Given the description of an element on the screen output the (x, y) to click on. 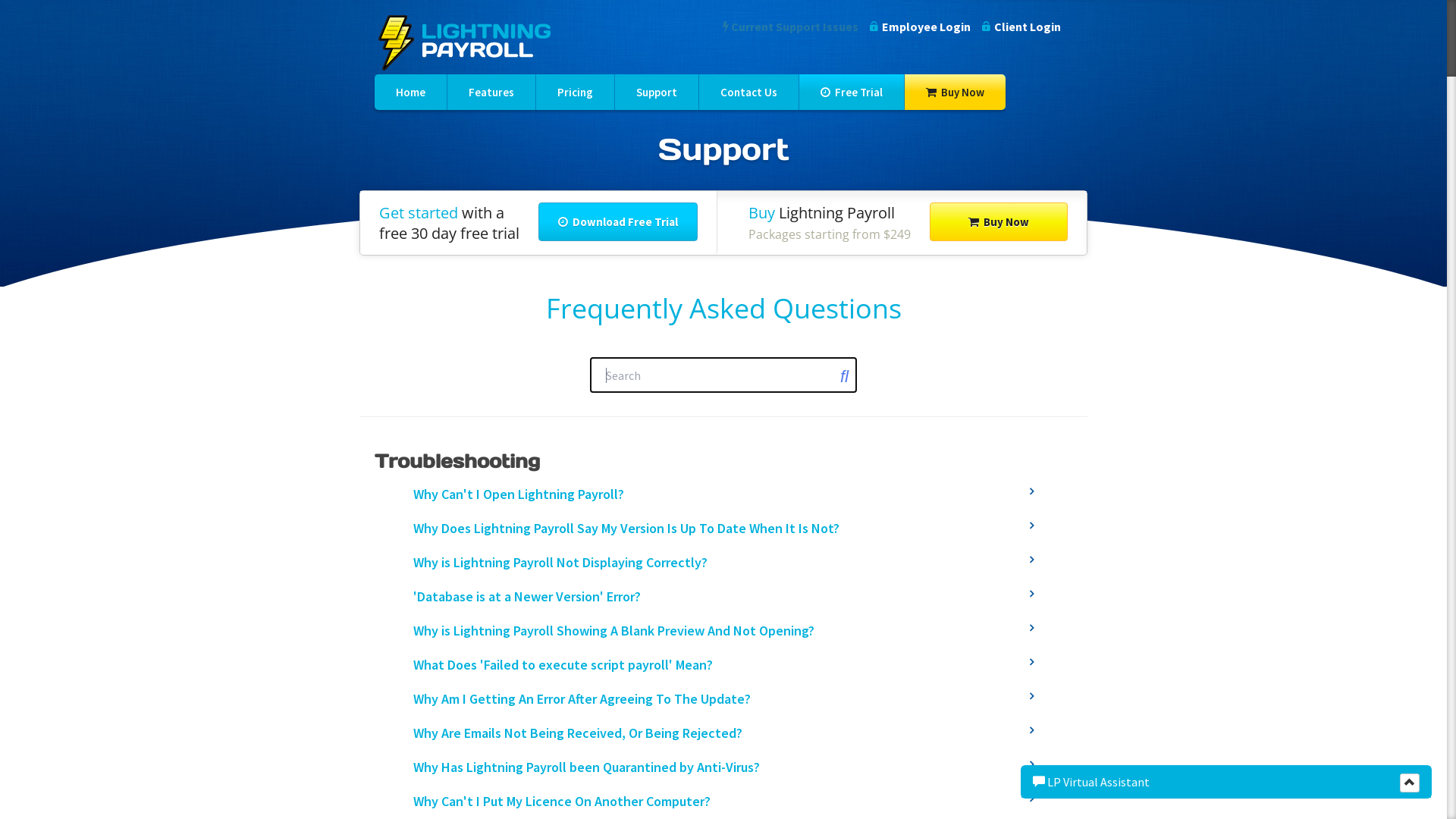
Why Can't I Open Lightning Payroll? Element type: text (723, 493)
Why Am I Getting An Error After Agreeing To The Update? Element type: text (723, 698)
Why is Lightning Payroll Not Displaying Correctly? Element type: text (723, 562)
What Does 'Failed to execute script payroll' Mean? Element type: text (723, 664)
  Buy Now Element type: text (998, 221)
Features Element type: text (491, 91)
  Download Free Trial Element type: text (617, 221)
Client Login Element type: text (1021, 26)
Why Can't I Put My Licence On Another Computer? Element type: text (723, 800)
Why Has Lightning Payroll been Quarantined by Anti-Virus? Element type: text (723, 766)
Current Support Issues Element type: text (790, 26)
Employee Login Element type: text (919, 26)
Contact Us Element type: text (748, 91)
Why Are Emails Not Being Received, Or Being Rejected? Element type: text (723, 732)
'Database is at a Newer Version' Error? Element type: text (723, 596)
Home Element type: text (410, 91)
  Buy Now Element type: text (954, 91)
  Free Trial Element type: text (851, 91)
Pricing Element type: text (575, 91)
Support Element type: text (656, 91)
